Given the description of an element on the screen output the (x, y) to click on. 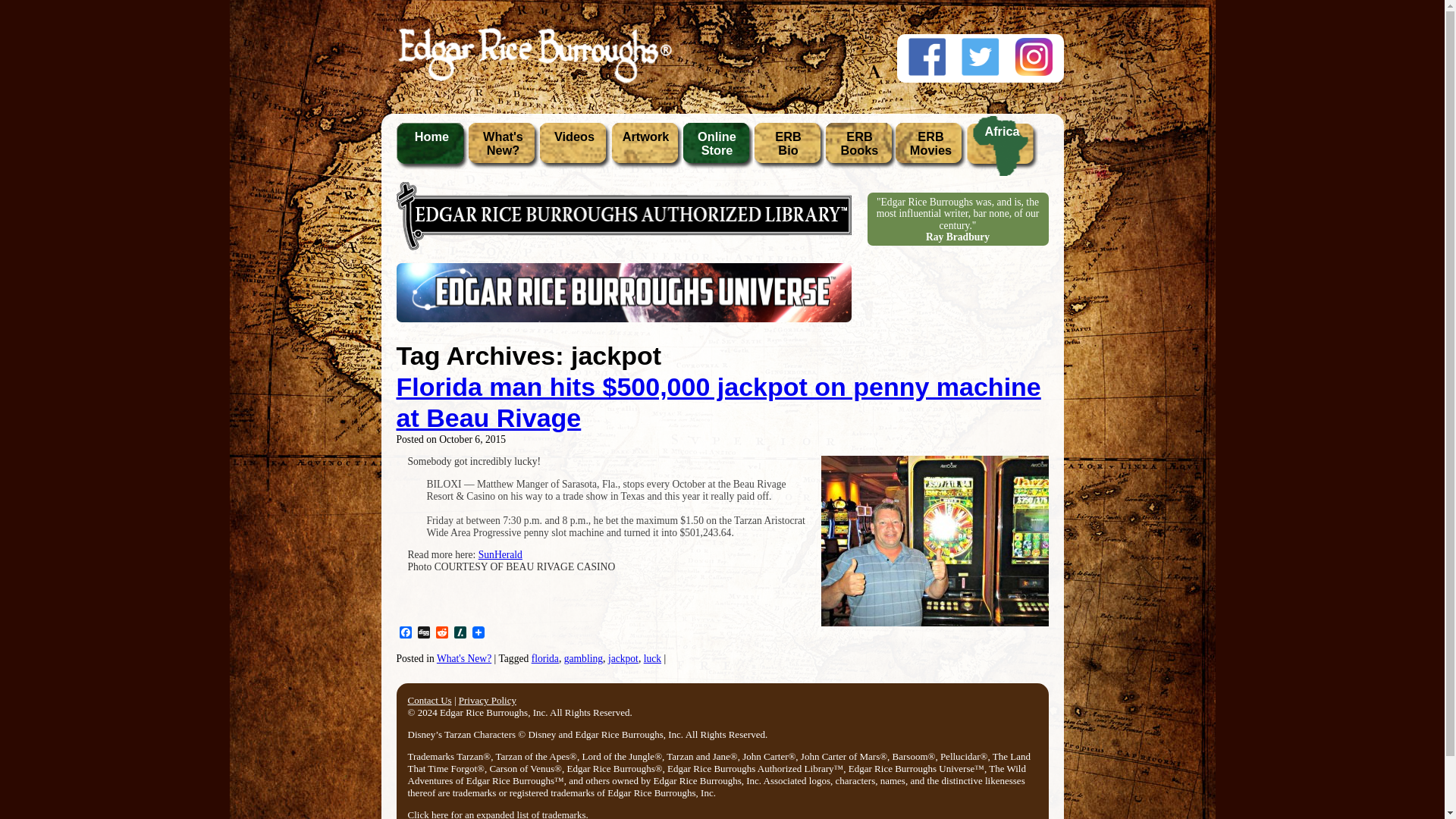
Digg (422, 633)
Slashdot (458, 633)
florida (545, 658)
Privacy Policy (487, 699)
Click here (427, 814)
jackpot (623, 658)
Videos (574, 149)
luck (652, 658)
Facebook (788, 149)
gambling (859, 149)
SunHerald (404, 633)
